Given the description of an element on the screen output the (x, y) to click on. 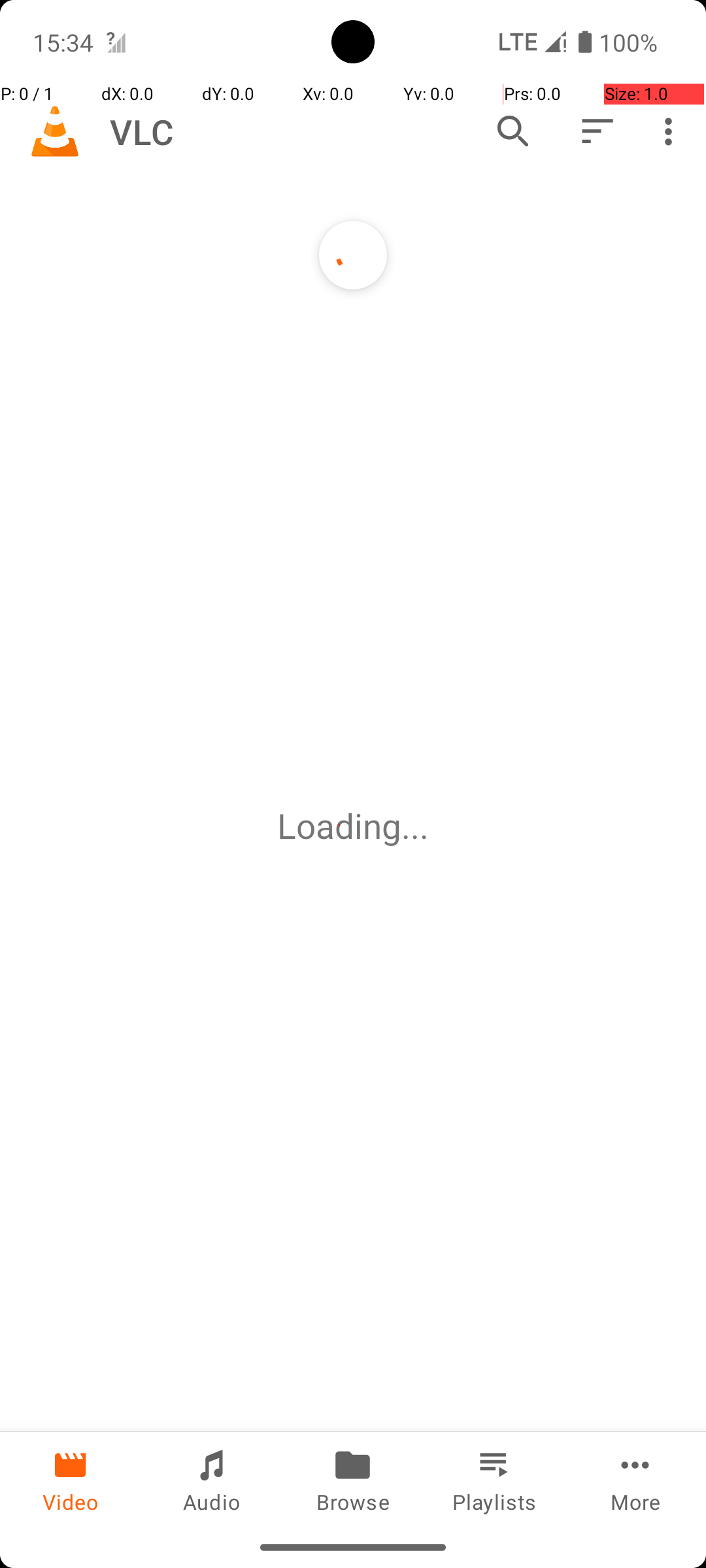
... Element type: android.widget.TextView (414, 825)
